Given the description of an element on the screen output the (x, y) to click on. 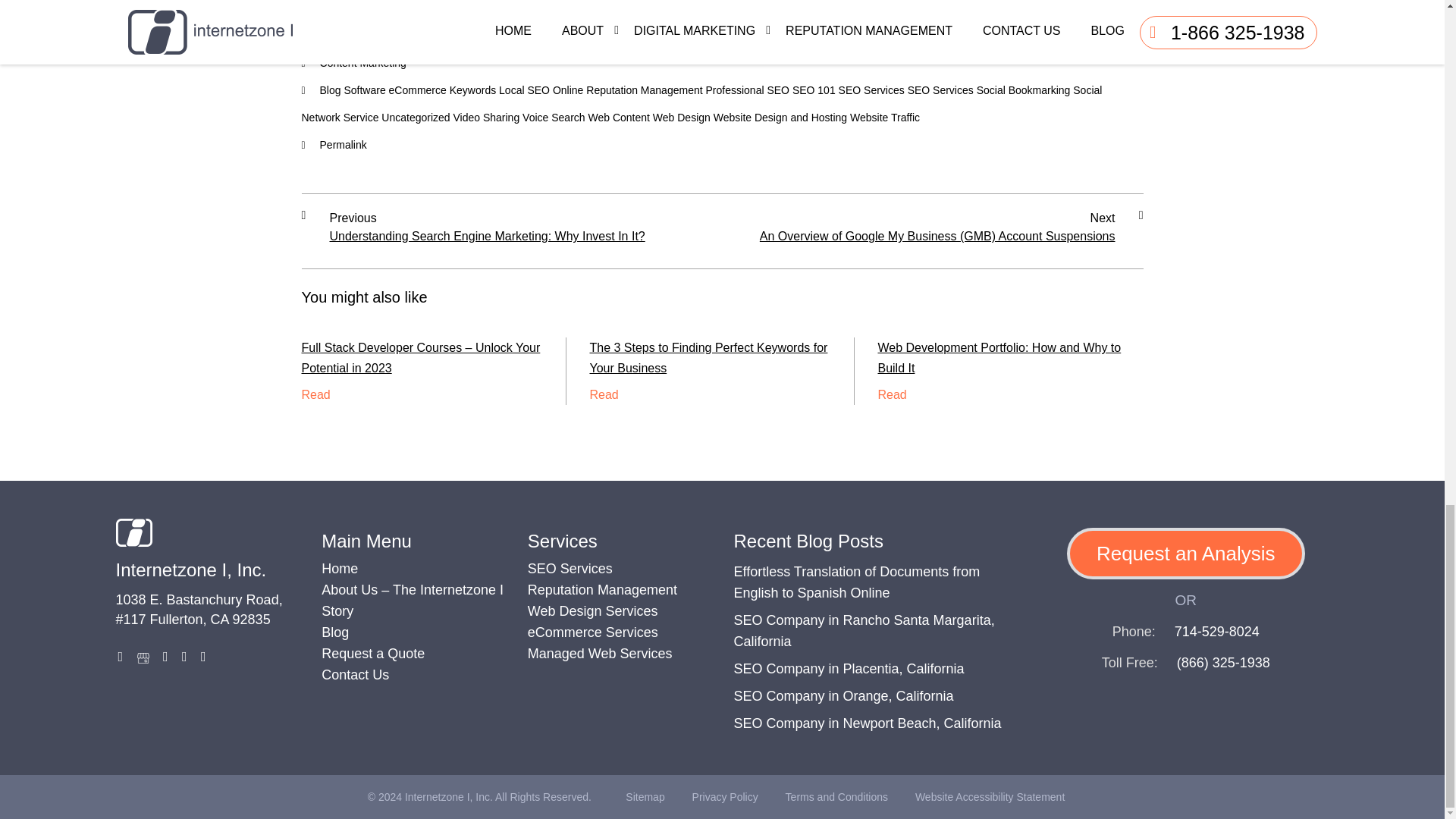
Social Network Service (701, 103)
Web Design (681, 117)
Content Marketing (363, 62)
Professional SEO (746, 90)
SEO 101 (813, 90)
Online Reputation Management (628, 90)
Video Sharing (485, 117)
Voice Search (553, 117)
SEO Services (940, 90)
Uncategorized (415, 117)
